Given the description of an element on the screen output the (x, y) to click on. 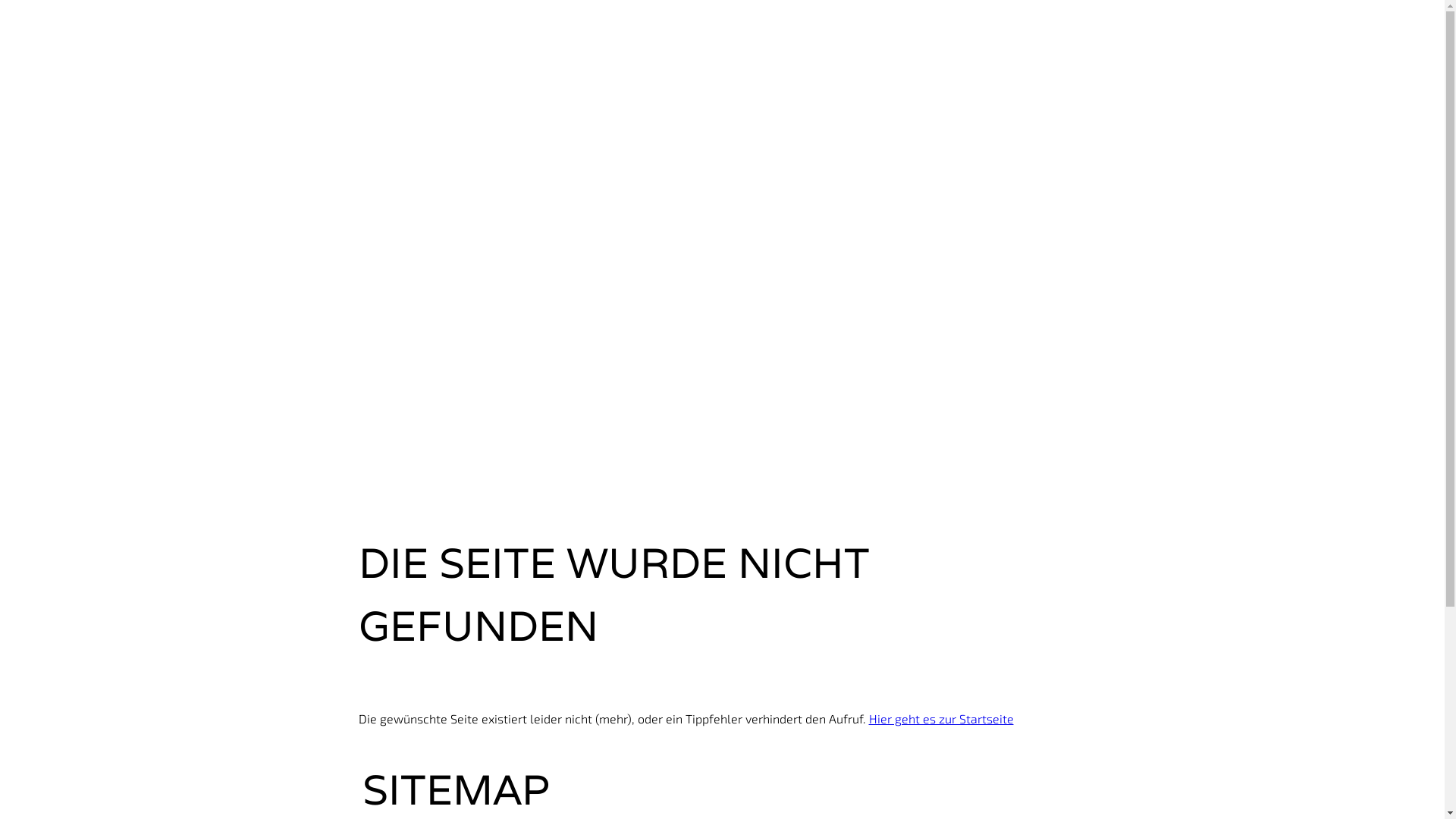
Hier geht es zur Startseite Element type: text (941, 718)
Mundart Rock'n'roll Element type: text (437, 351)
